Given the description of an element on the screen output the (x, y) to click on. 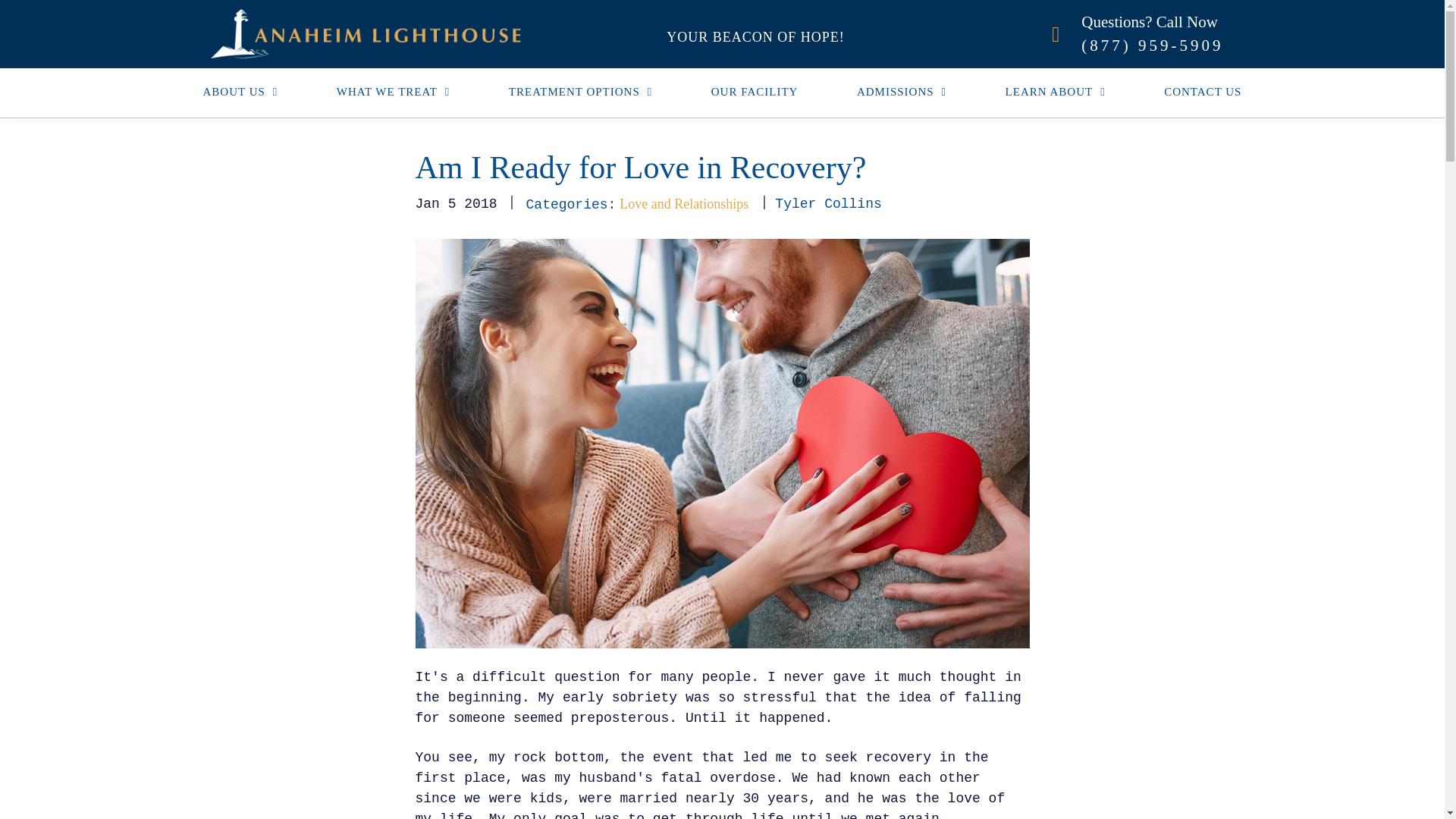
Learn About (1055, 91)
WHAT WE TREAT (392, 91)
Contact Us (1194, 91)
TREATMENT OPTIONS (580, 91)
Treatment Options (580, 91)
Admissions (901, 91)
OUR FACILITY (754, 91)
CONTACT US (1194, 91)
About Us (249, 91)
LEARN ABOUT (1055, 91)
Our Facility (754, 91)
What We Treat (392, 91)
ABOUT US (249, 91)
ADMISSIONS (901, 91)
